Given the description of an element on the screen output the (x, y) to click on. 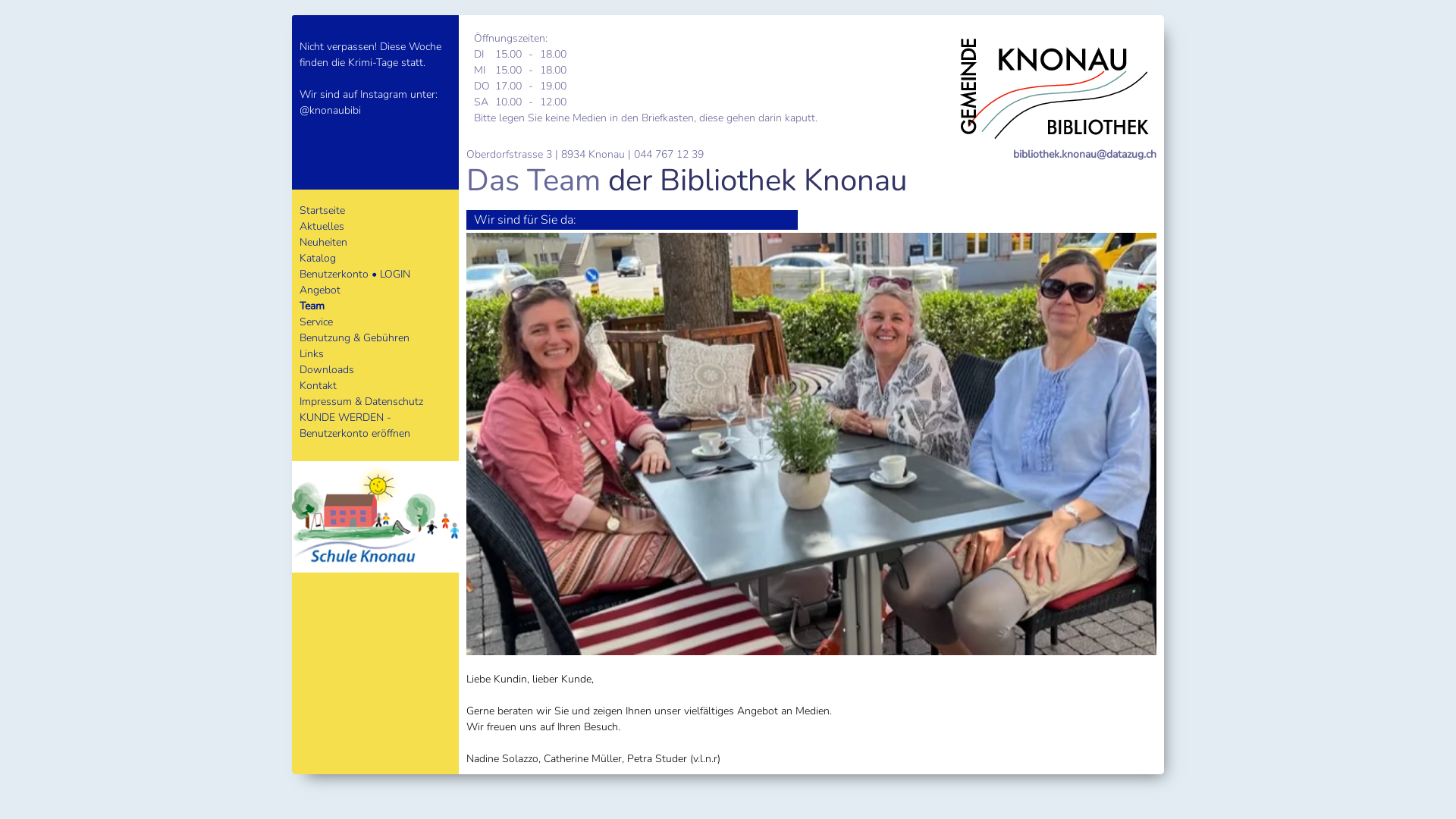
Links Element type: text (311, 353)
Team Element type: text (311, 305)
Downloads Element type: text (326, 369)
Kontakt Element type: text (317, 385)
Impressum & Datenschutz Element type: text (361, 401)
Startseite Element type: text (322, 210)
Angebot Element type: text (319, 289)
Neuheiten Element type: text (323, 242)
bibliothek.knonau@datazug.ch Element type: text (1084, 154)
Service Element type: text (315, 321)
Katalog Element type: text (317, 258)
Aktuelles Element type: text (321, 226)
